Given the description of an element on the screen output the (x, y) to click on. 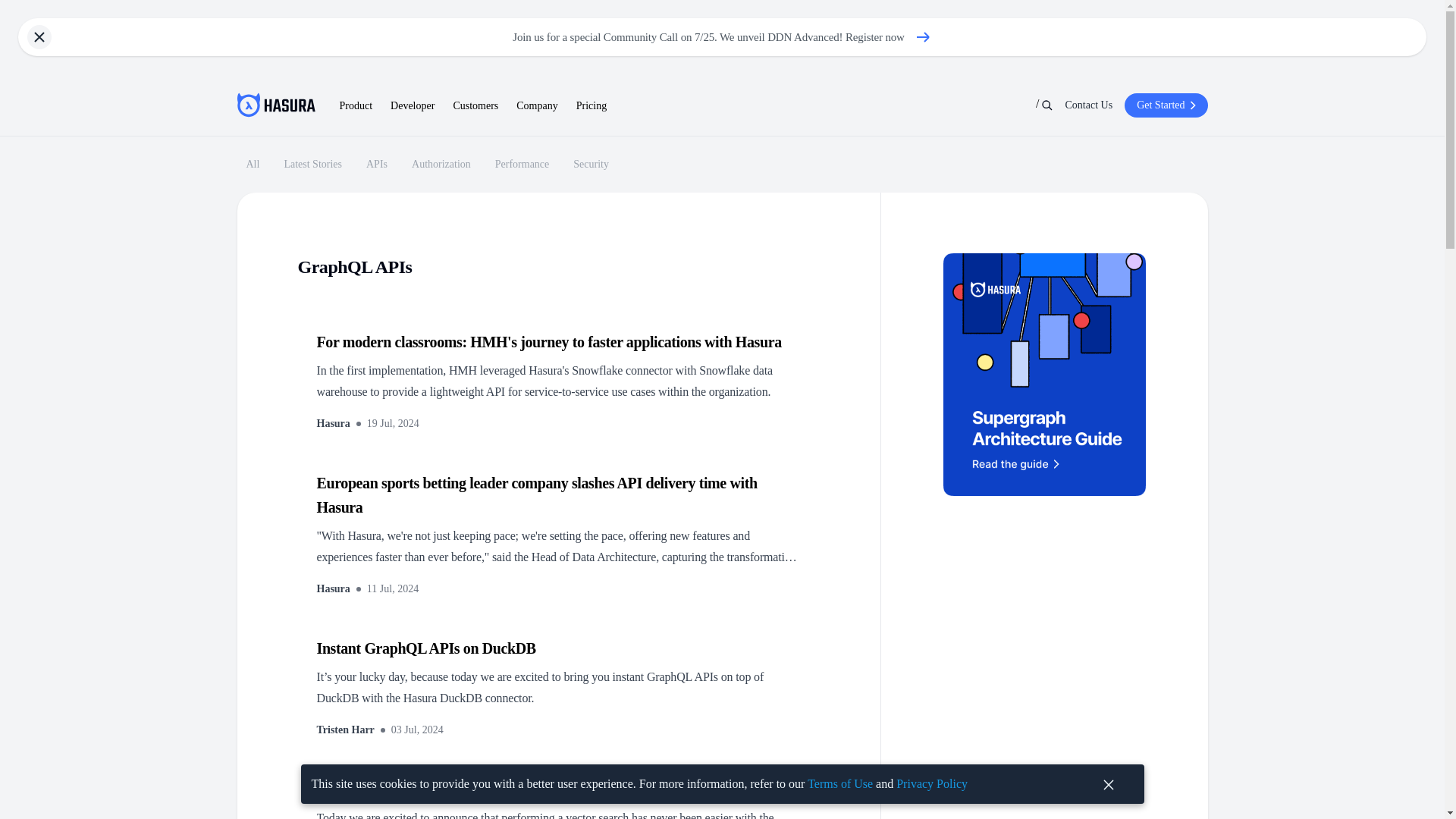
APIs (426, 164)
03 Jul, 2024 (376, 164)
Pricing (417, 730)
Tristen Harr (591, 105)
Hasura (345, 730)
Security (333, 588)
Authorization (590, 164)
Hasura (441, 164)
Customers (333, 423)
11 Jul, 2024 (474, 105)
Performance (392, 588)
19 Jul, 2024 (522, 164)
All (392, 423)
